Given the description of an element on the screen output the (x, y) to click on. 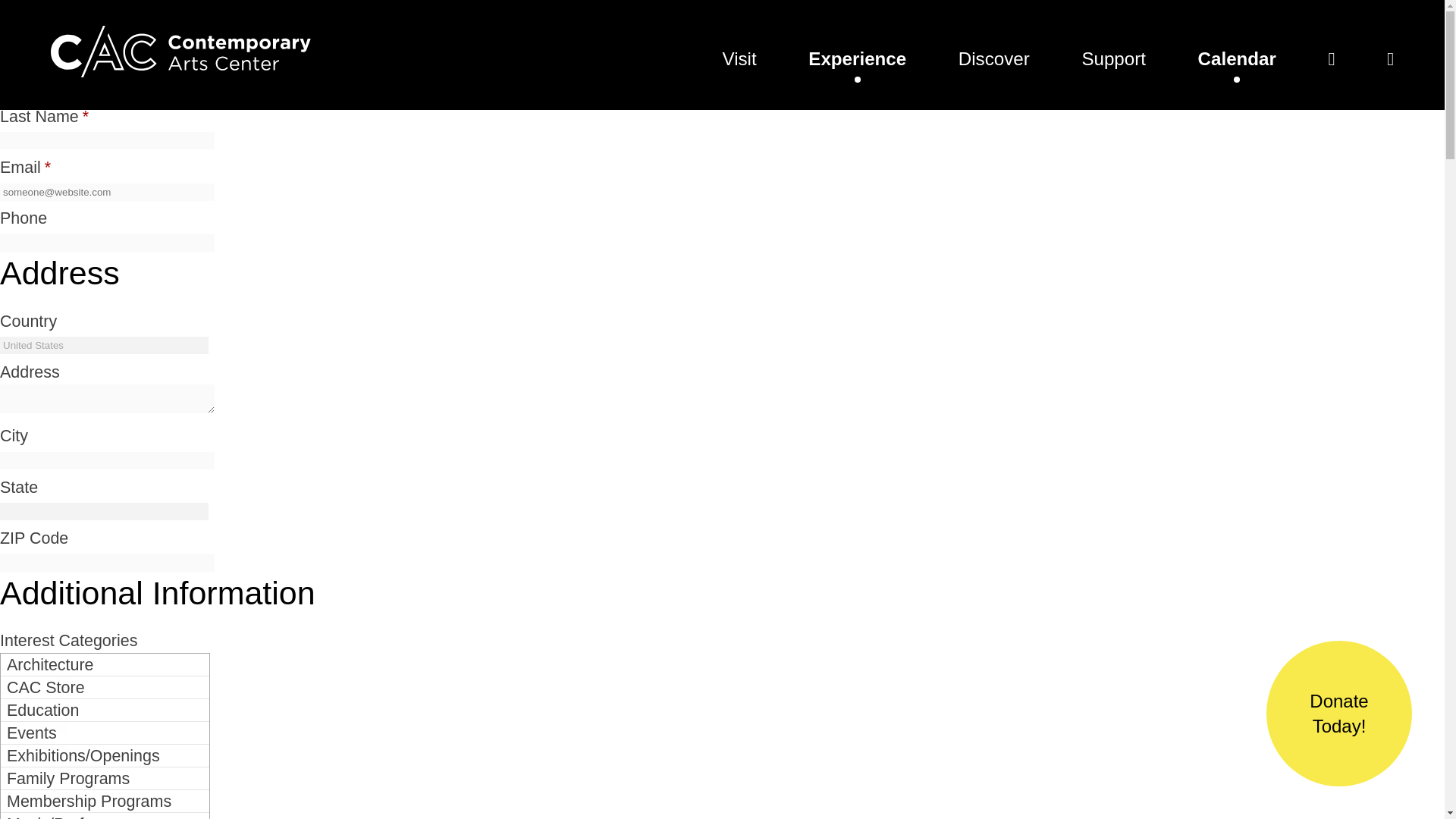
Architecture (105, 664)
Membership Programs (105, 801)
Events (105, 732)
19516 (81, 660)
19517 (81, 682)
19518 (81, 705)
Contemporary Arts Center (180, 72)
19523 (81, 816)
19522 (81, 796)
Discover (993, 58)
